Given the description of an element on the screen output the (x, y) to click on. 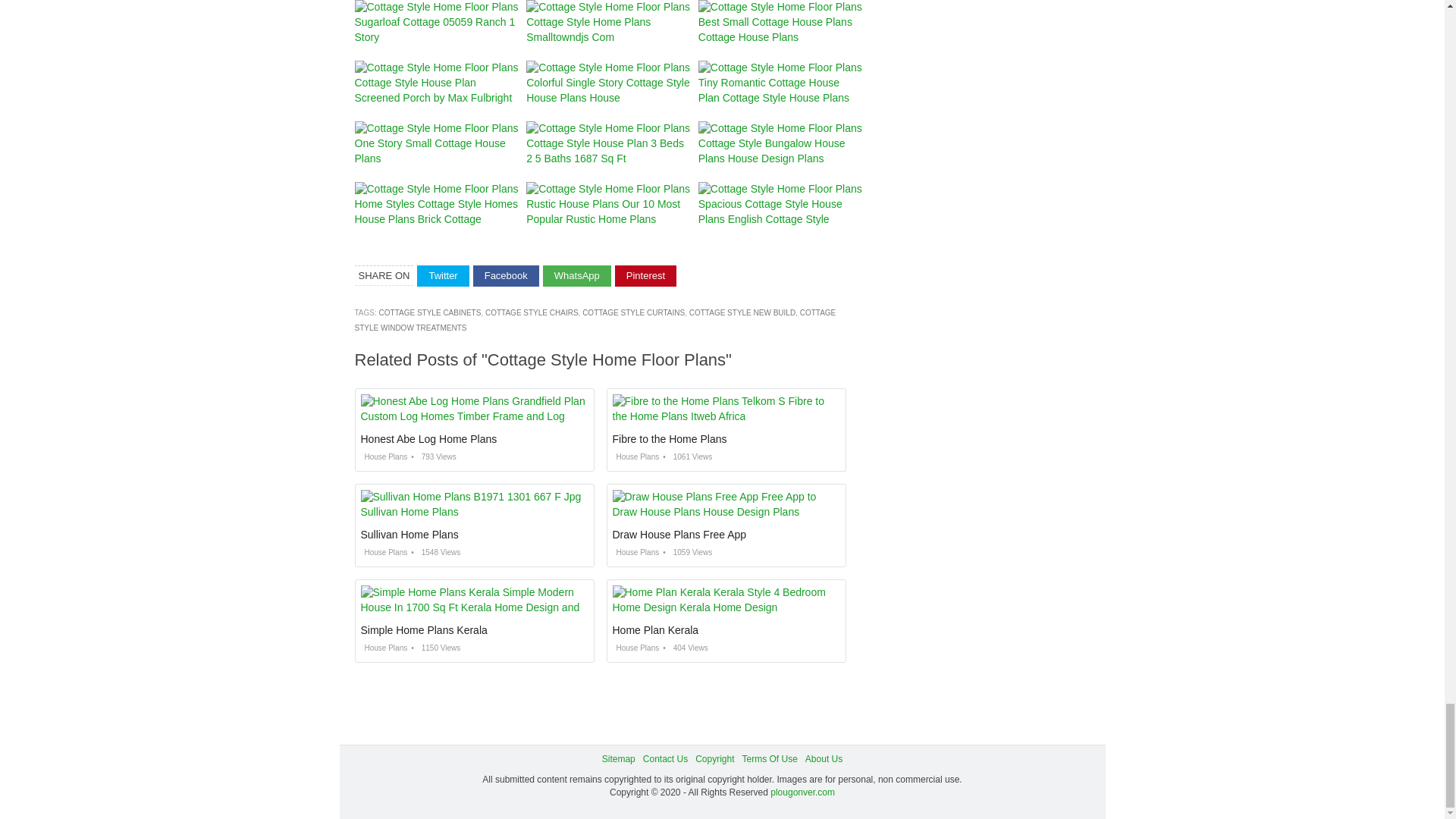
Fibre to the Home Plans (669, 439)
COTTAGE STYLE CHAIRS (531, 312)
COTTAGE STYLE WINDOW TREATMENTS (595, 320)
Pinterest (645, 276)
COTTAGE STYLE NEW BUILD (741, 312)
COTTAGE STYLE CURTAINS (633, 312)
COTTAGE STYLE CABINETS (429, 312)
Facebook (505, 276)
Honest Abe Log Home Plans (429, 439)
House Plans (635, 456)
Twitter (442, 276)
WhatsApp (577, 276)
House Plans (384, 456)
